Given the description of an element on the screen output the (x, y) to click on. 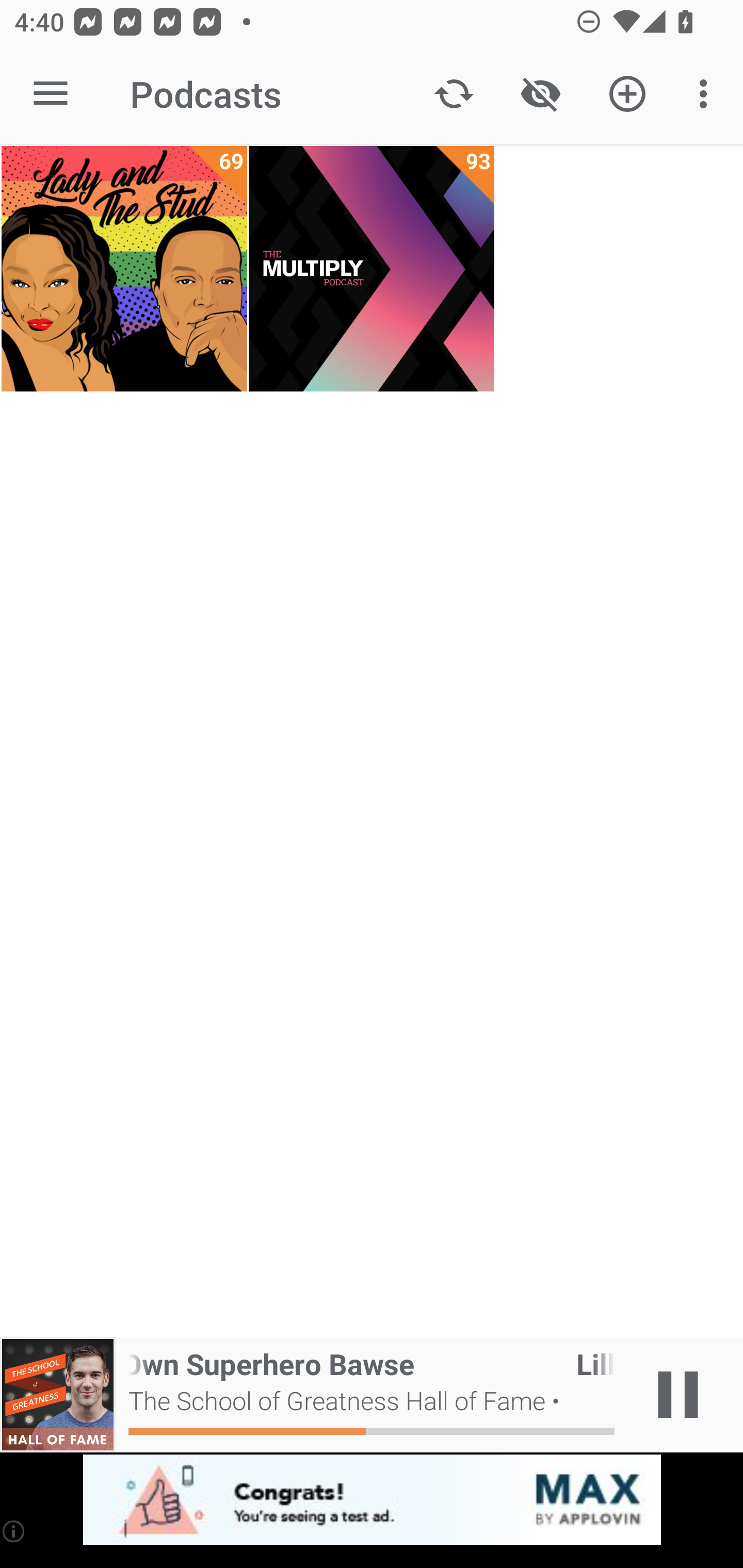
Open navigation sidebar (50, 93)
Update (453, 93)
Show / Hide played content (540, 93)
Add new Podcast (626, 93)
More options (706, 93)
Lady and The Stud 69 (124, 268)
The Multiply Podcast 93 (371, 268)
Play / Pause (677, 1394)
app-monetization (371, 1500)
(i) (14, 1531)
